Given the description of an element on the screen output the (x, y) to click on. 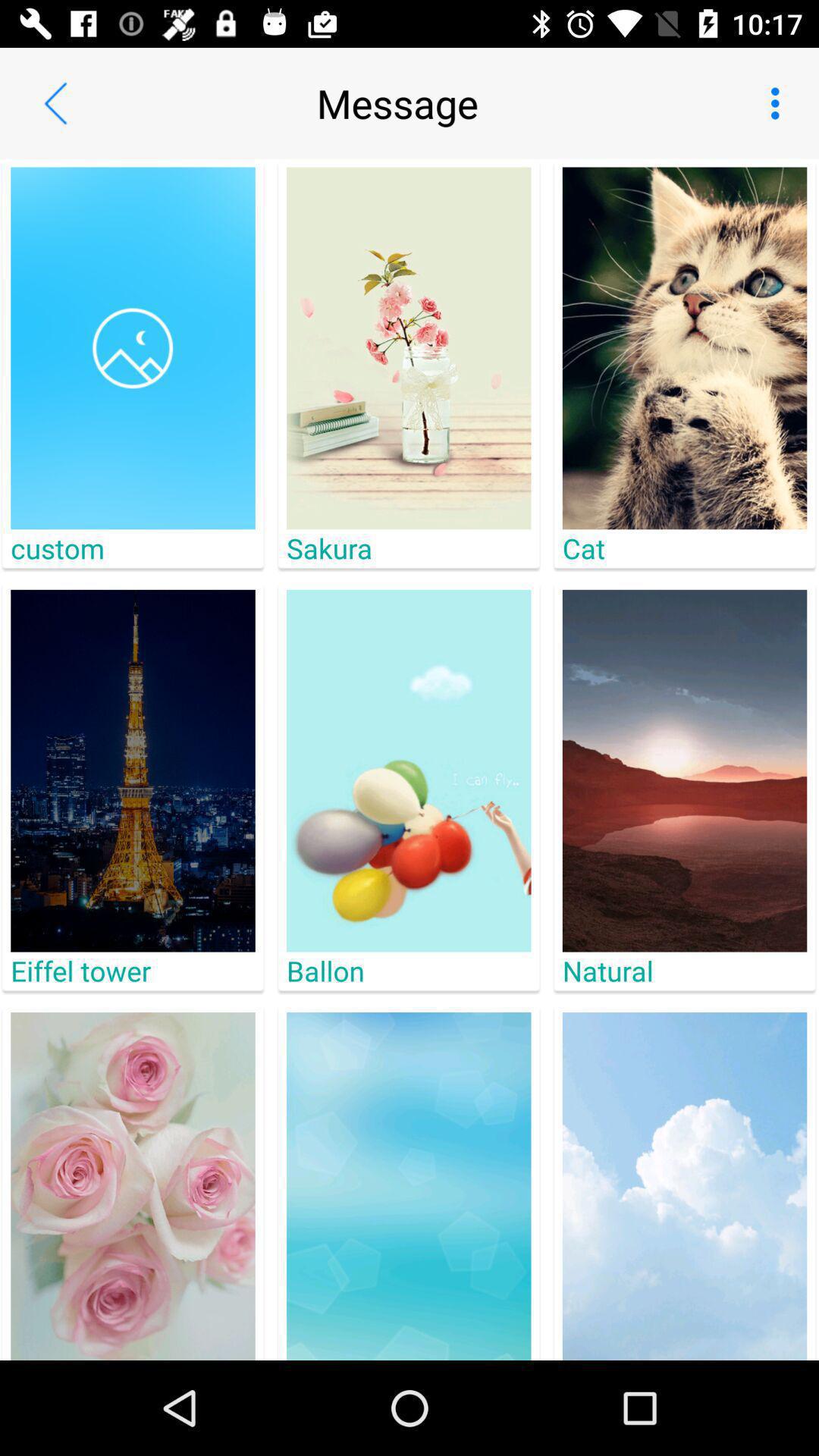
go to the image below natural present at the bottom right corner (684, 1185)
click on the three vertical dots on the top right corner of the web page (779, 103)
click on the image above ballon (408, 770)
click on the image above natural (684, 770)
the center image in the last row from the top of the page (408, 1185)
